Given the description of an element on the screen output the (x, y) to click on. 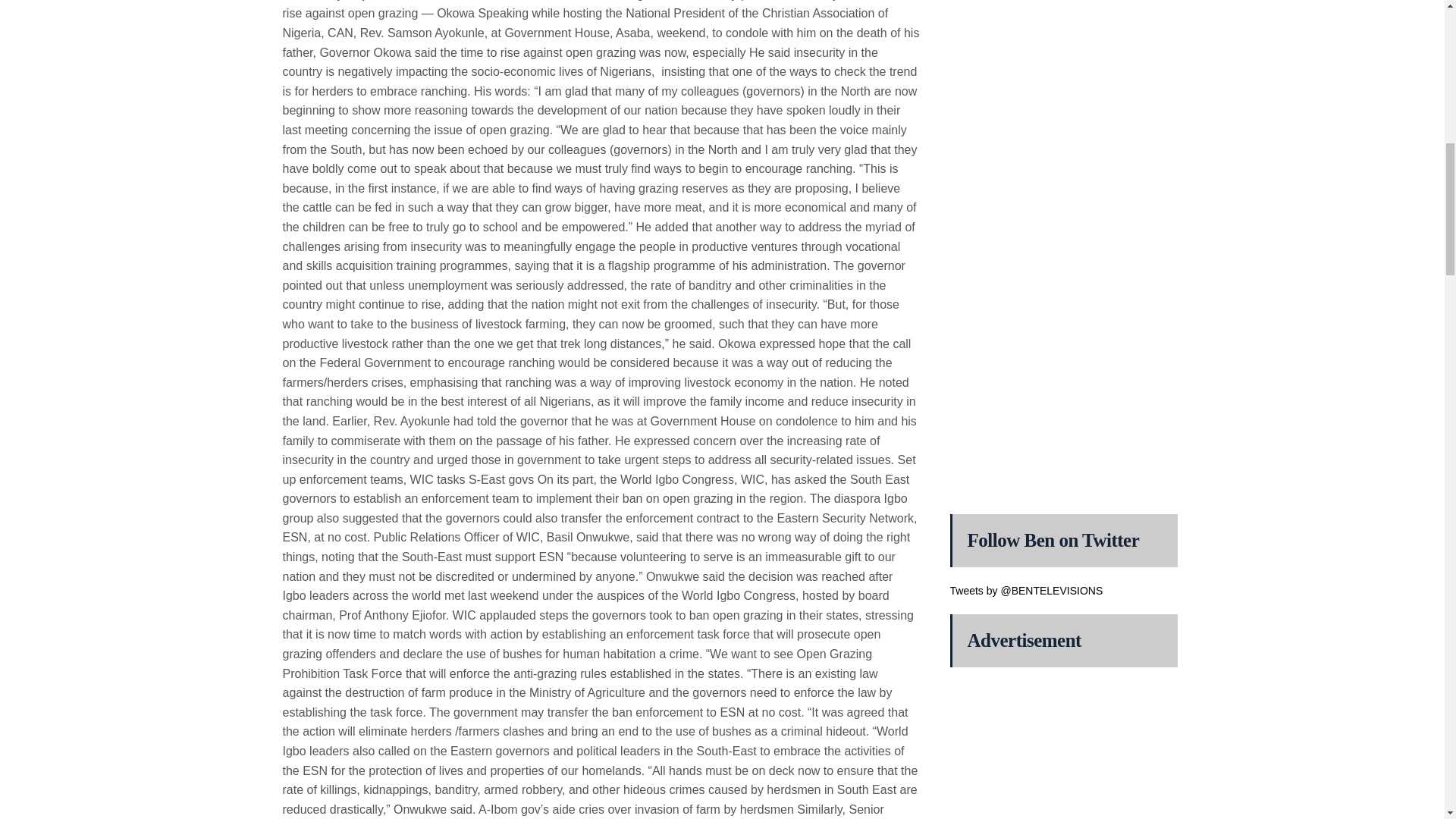
Advertisement (1062, 239)
